Given the description of an element on the screen output the (x, y) to click on. 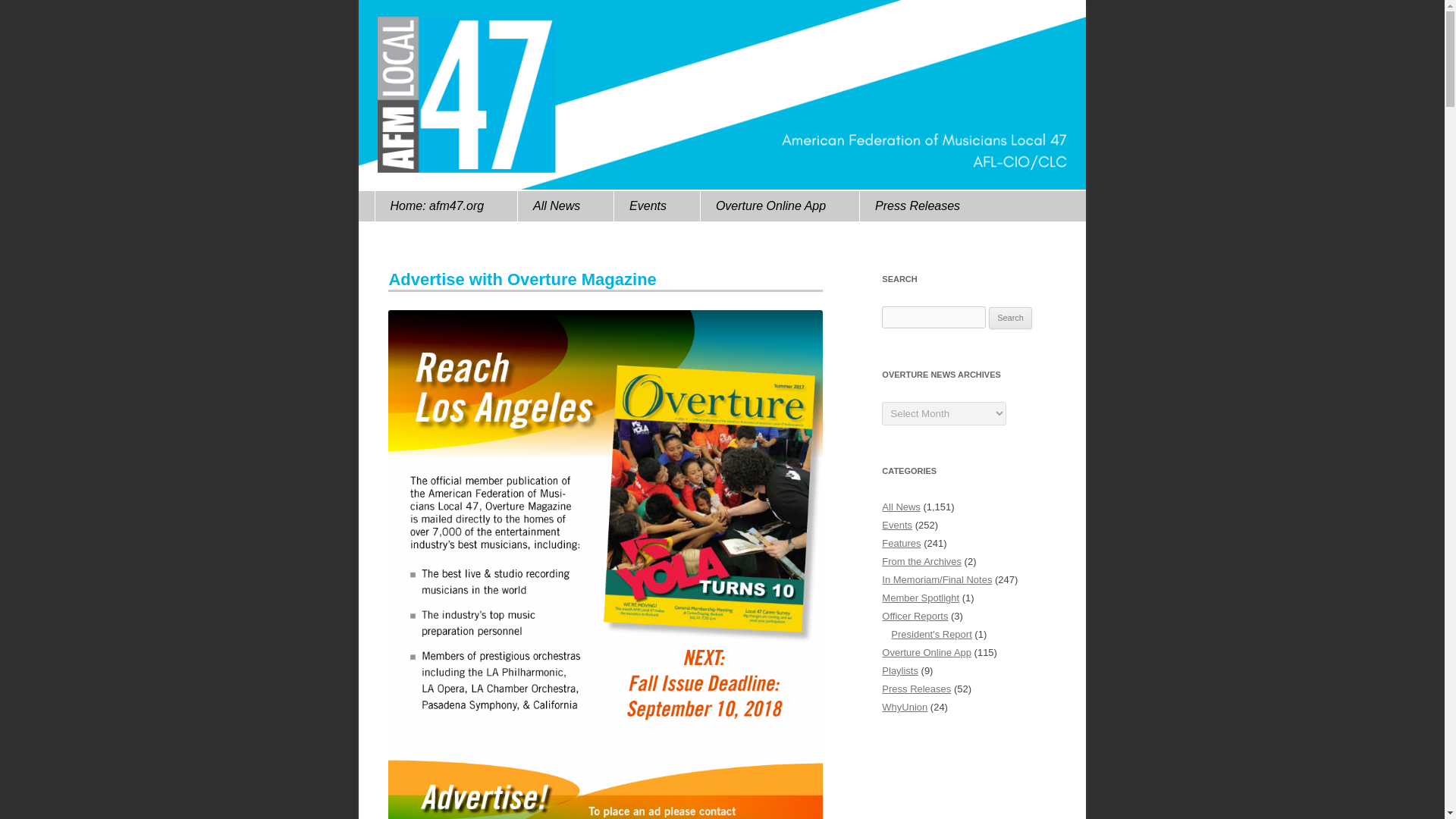
Skip to content (391, 206)
Events (639, 205)
Overture Online App (762, 205)
Advertise with Overture Magazine (522, 279)
Home: afm47.org (429, 205)
Search (1010, 318)
All News (547, 205)
Press Releases (909, 205)
Skip to content (391, 206)
